Given the description of an element on the screen output the (x, y) to click on. 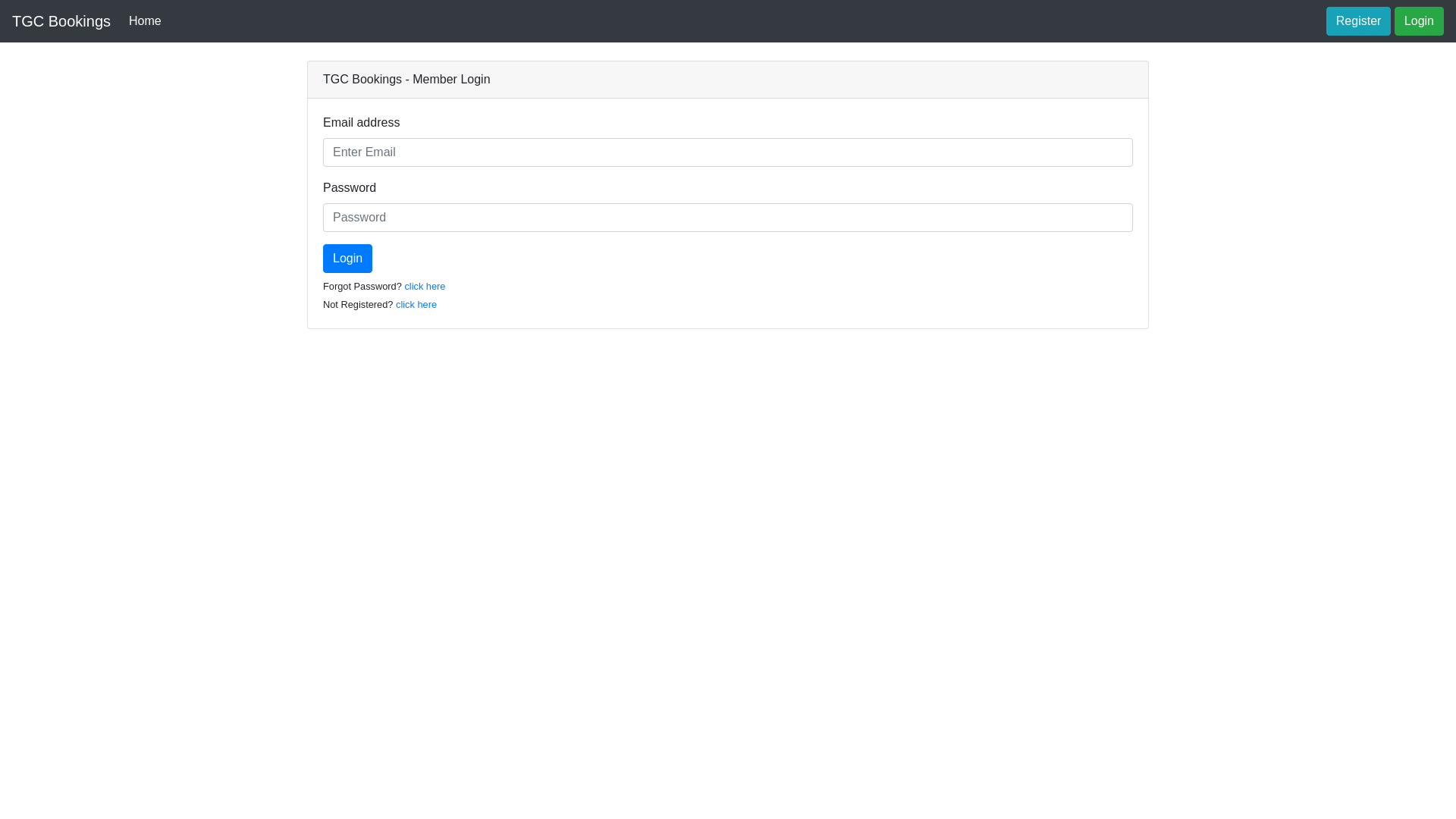
Home
(current) Element type: text (144, 21)
click here Element type: text (424, 285)
Register Element type: text (1358, 20)
TGC Bookings Element type: text (61, 21)
Login Element type: text (347, 258)
click here Element type: text (415, 304)
Login Element type: text (1418, 20)
